Given the description of an element on the screen output the (x, y) to click on. 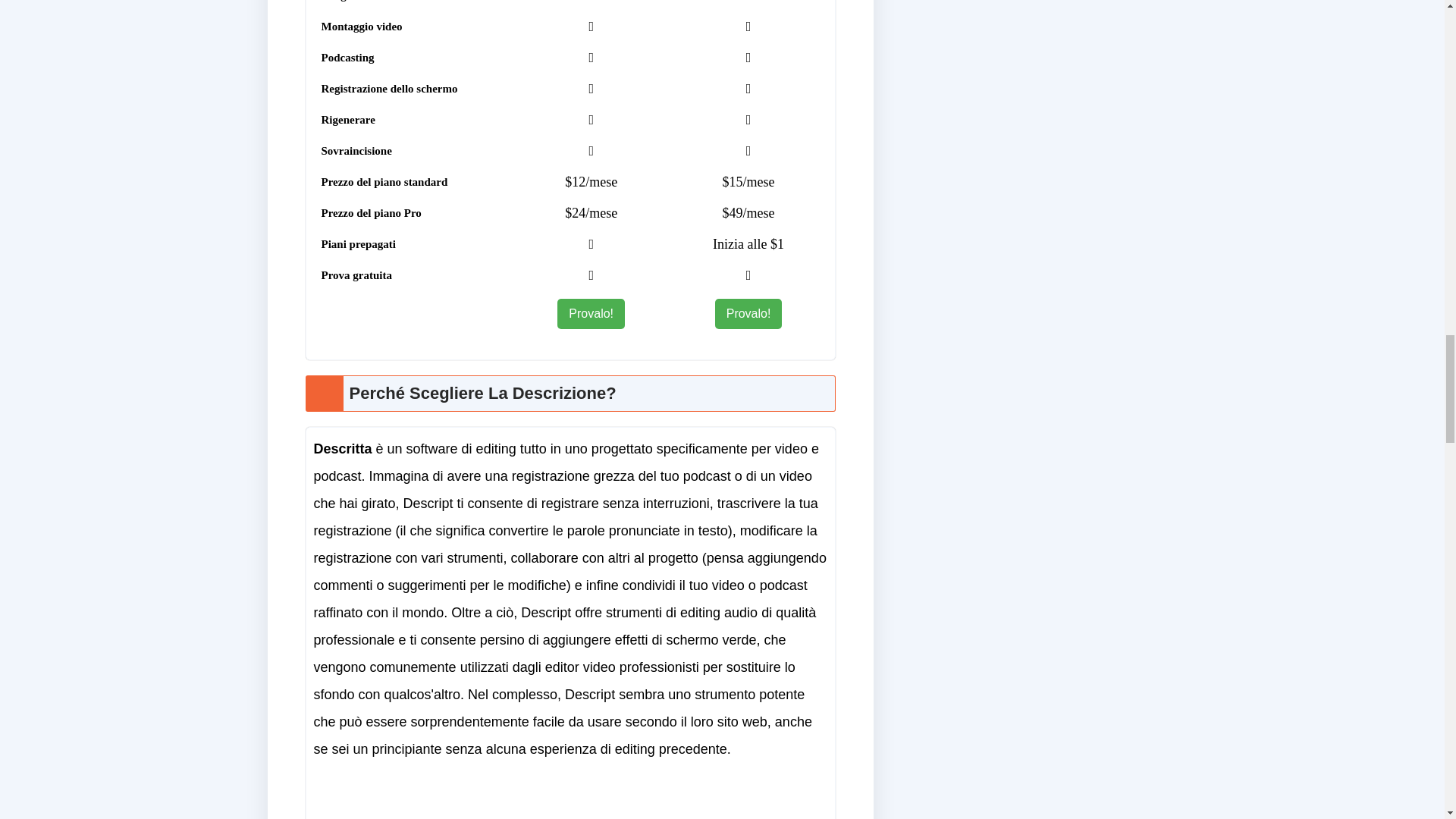
Provalo! (590, 313)
Provalo! (748, 313)
Provalo! (590, 313)
Provalo! (748, 313)
